Given the description of an element on the screen output the (x, y) to click on. 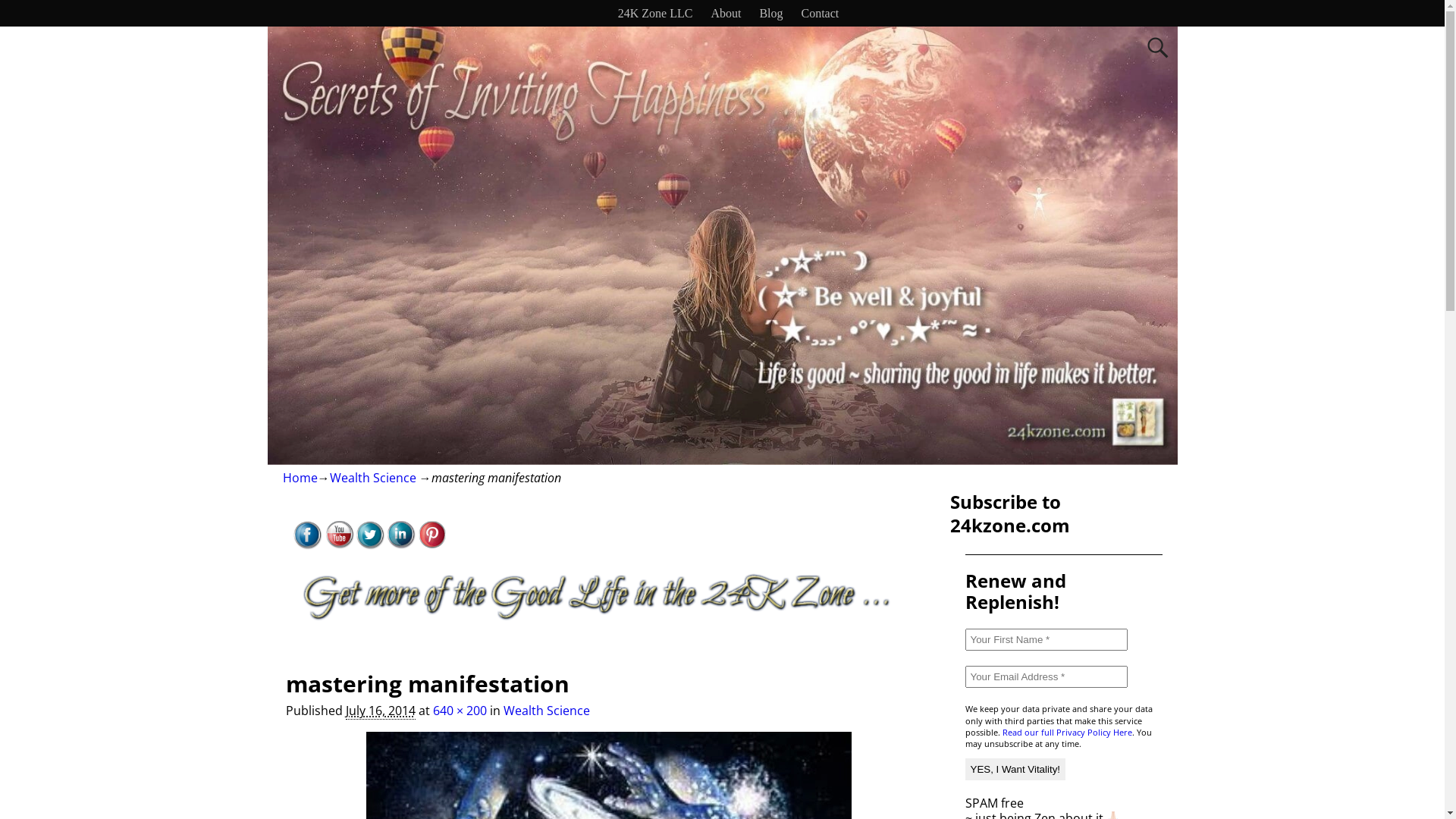
About Element type: text (725, 13)
24K Zone LLC Element type: text (655, 13)
Read our full Privacy Policy Here Element type: text (1067, 731)
YES, I Want Vitality! Element type: text (1014, 769)
Home Element type: text (299, 477)
Visit Us On Linkedin Element type: hover (400, 544)
Visit Us On Twitter Element type: hover (368, 544)
Your First Name Element type: hover (1045, 639)
Visit Us On Youtube Element type: hover (338, 544)
Contact Element type: text (819, 13)
Blog Element type: text (770, 13)
Visit Us On Pinterest Element type: hover (430, 544)
Visit Us On Facebook Element type: hover (306, 544)
Your Email Address Element type: hover (1045, 676)
Wealth Science Element type: text (372, 477)
Wealth Science Element type: text (546, 710)
